Given the description of an element on the screen output the (x, y) to click on. 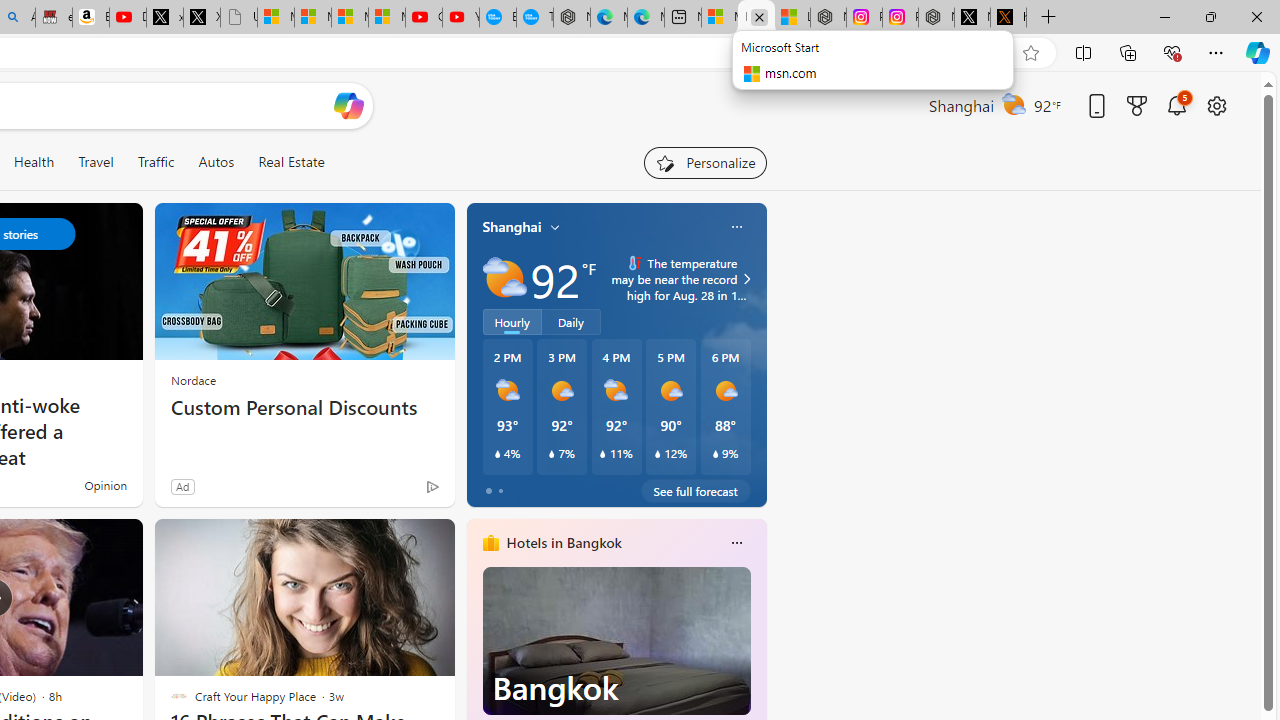
Nordace - Nordace has arrived Hong Kong (572, 17)
Travel (95, 162)
Daily (571, 321)
YouTube Kids - An App Created for Kids to Explore Content (460, 17)
Traffic (155, 161)
Class: weather-arrow-glyph (746, 278)
Hourly (511, 321)
